Given the description of an element on the screen output the (x, y) to click on. 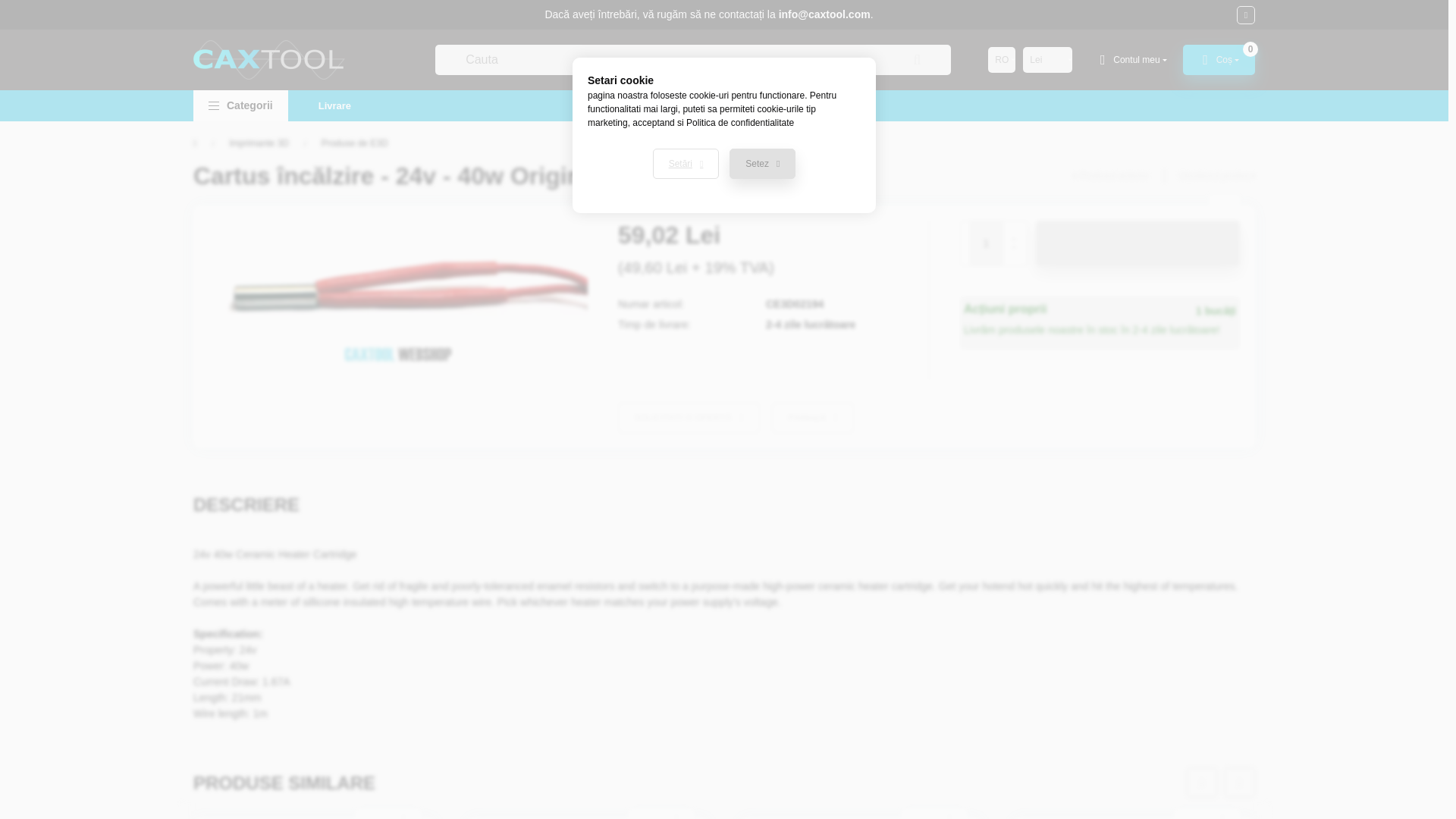
Produsul anterior (1110, 175)
Categorii (240, 105)
Imprimante 3D (258, 142)
Produse de E3D (354, 142)
Livrare (334, 105)
Produsul anterior (1110, 175)
Contul meu (1131, 60)
